Given the description of an element on the screen output the (x, y) to click on. 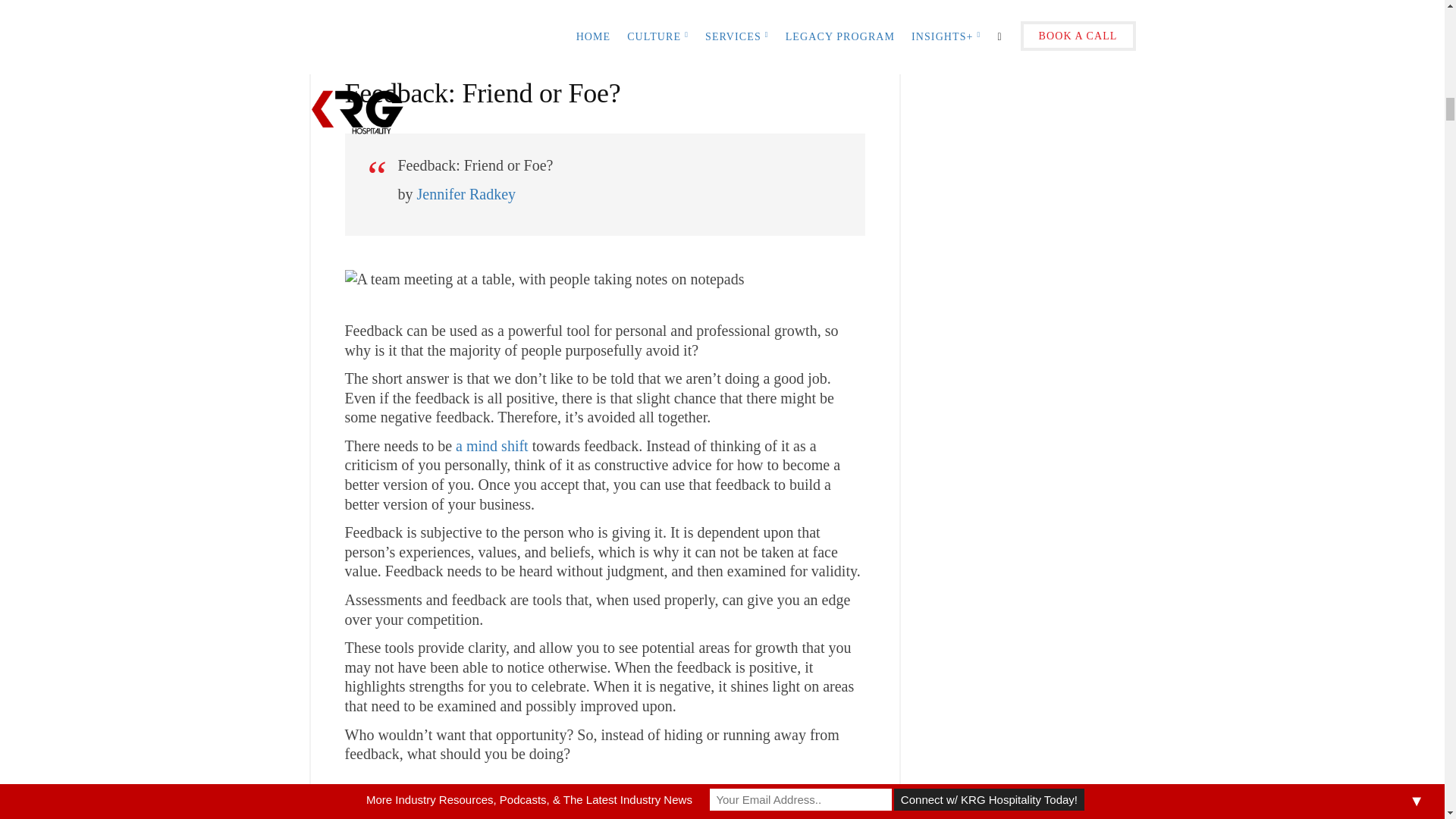
Feedback: Friend or Foe? (465, 42)
